Given the description of an element on the screen output the (x, y) to click on. 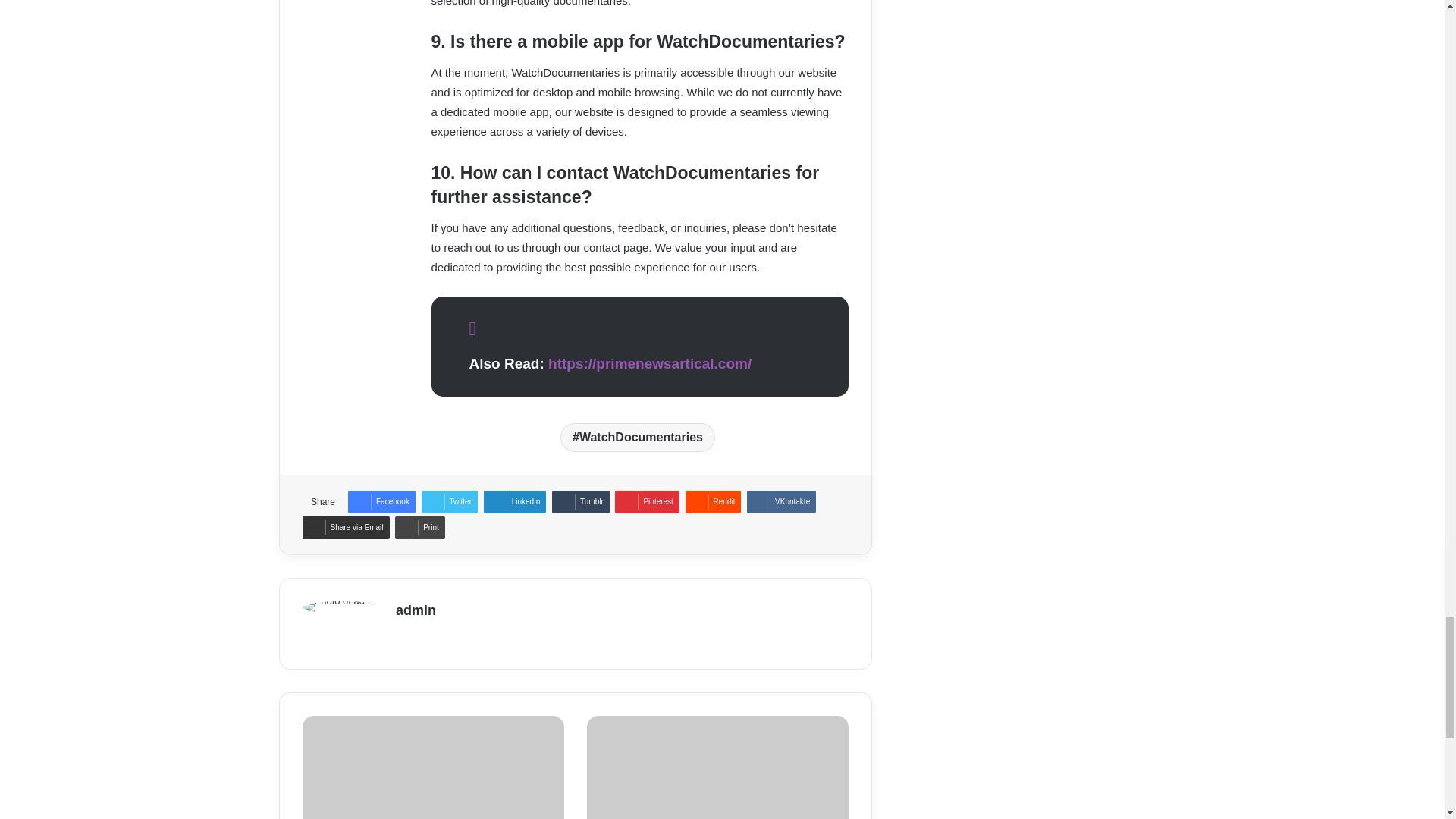
WatchDocumentaries (637, 437)
Twitter (449, 501)
Tumblr (580, 501)
LinkedIn (515, 501)
Facebook (380, 501)
